Given the description of an element on the screen output the (x, y) to click on. 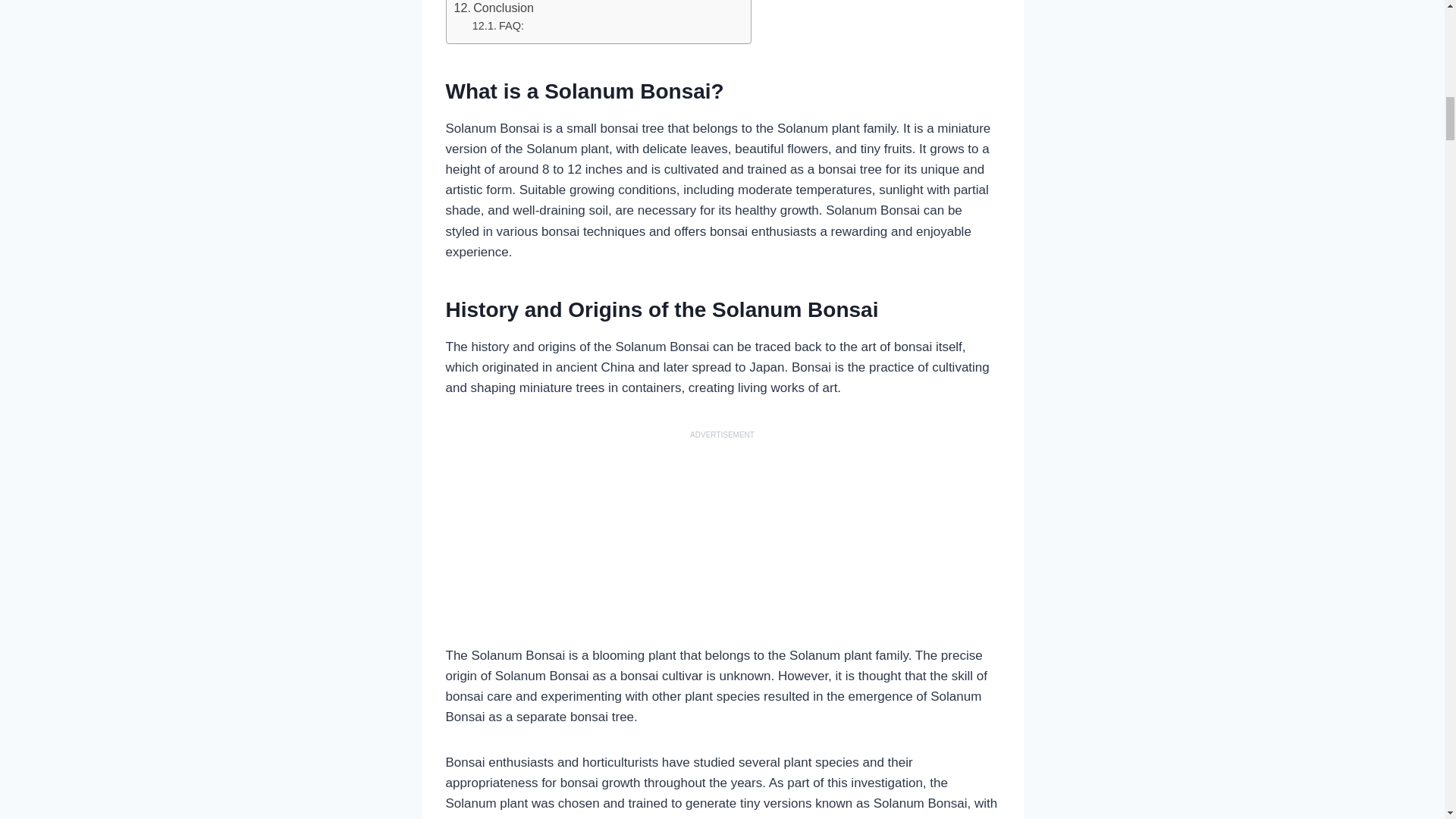
Conclusion (493, 9)
FAQ: (497, 26)
